Given the description of an element on the screen output the (x, y) to click on. 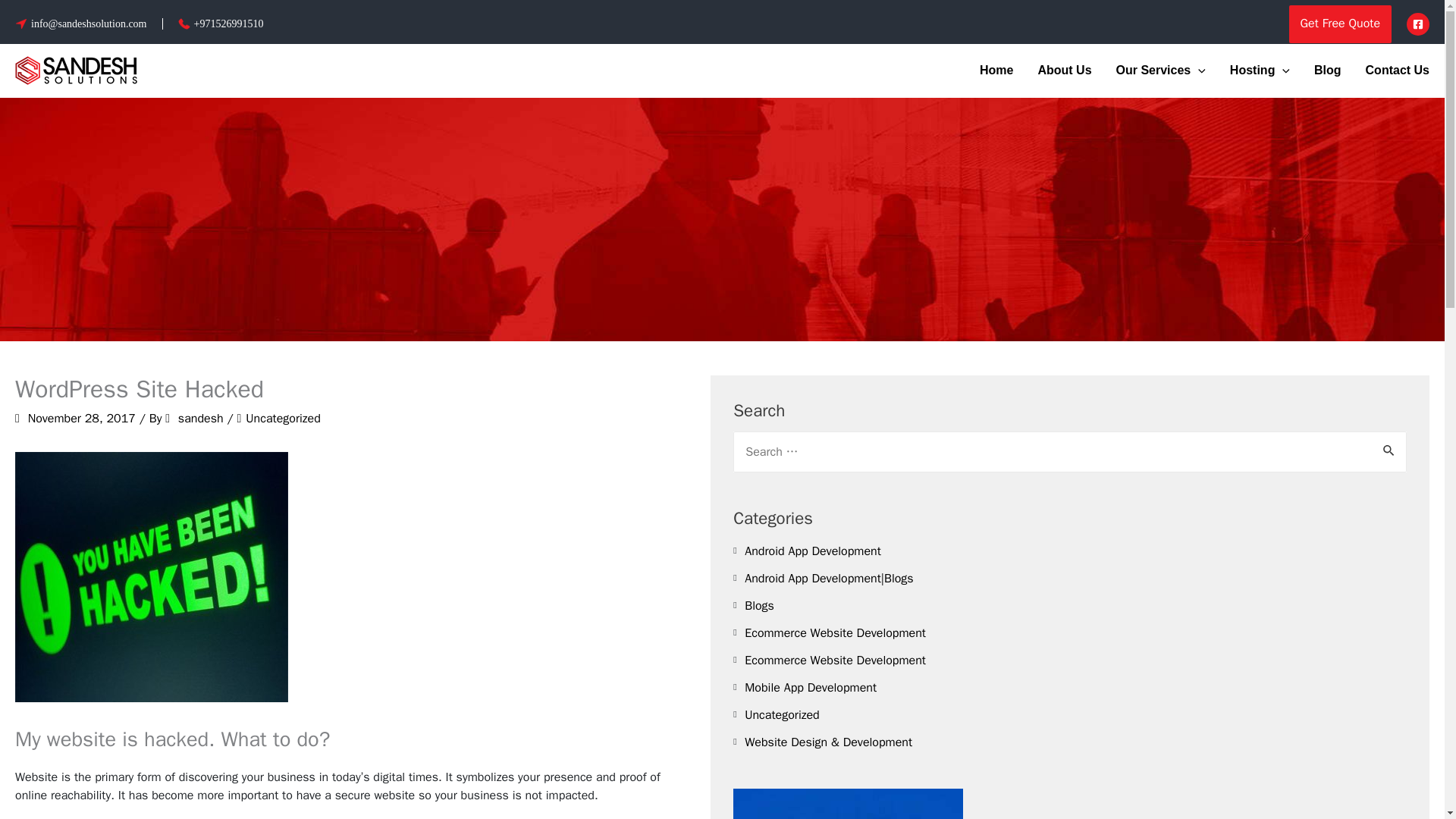
View all posts by sandesh (202, 418)
Hosting (1259, 70)
About Us (1064, 70)
Get Free Quote (1339, 23)
Our Services (1160, 70)
Home (996, 70)
